Given the description of an element on the screen output the (x, y) to click on. 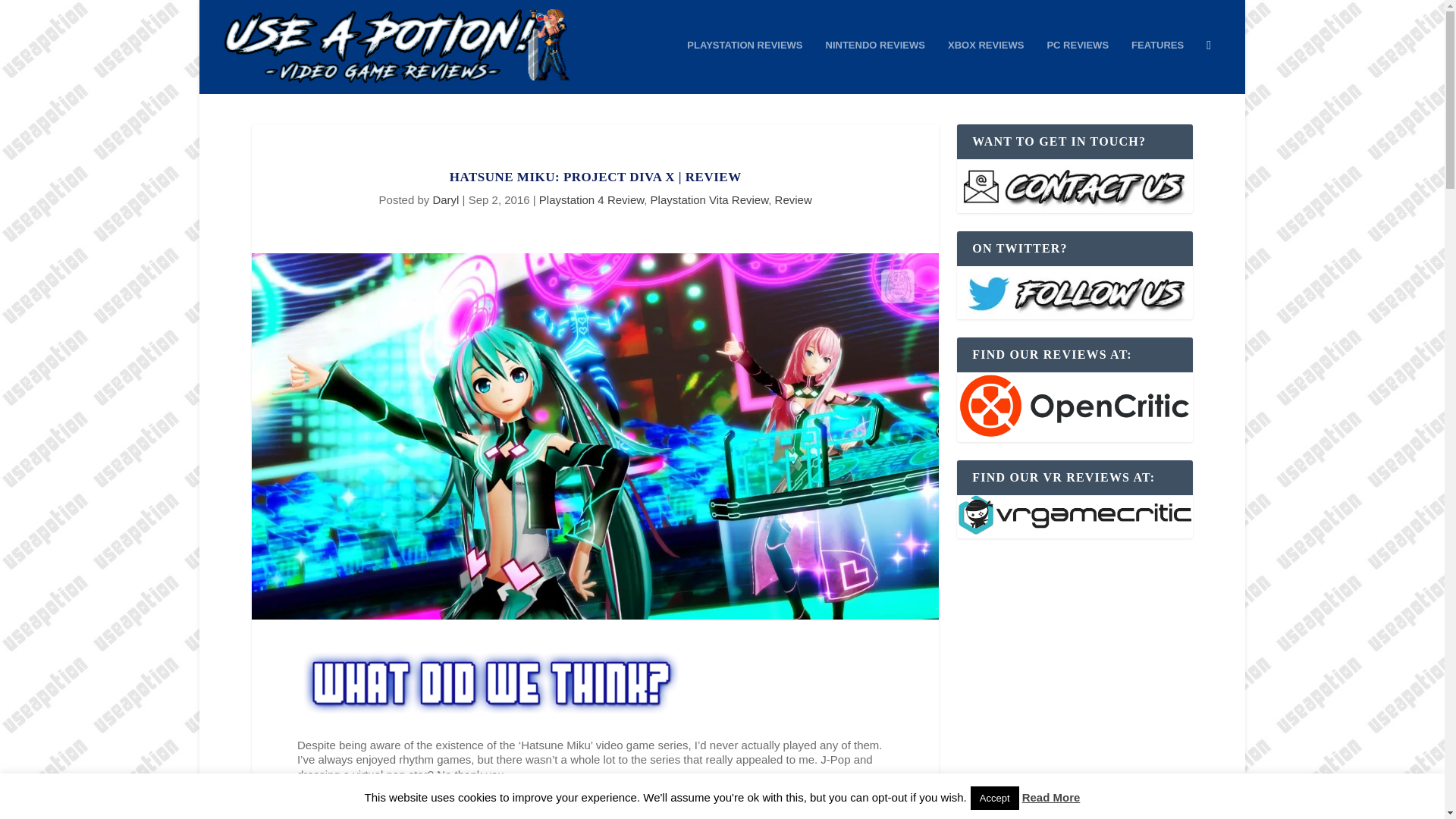
PLAYSTATION REVIEWS (744, 66)
Review (793, 199)
Daryl (445, 199)
NINTENDO REVIEWS (874, 66)
Accept (995, 797)
Posts by Daryl (445, 199)
Playstation Vita Review (709, 199)
Playstation 4 Review (590, 199)
XBOX REVIEWS (985, 66)
